Given the description of an element on the screen output the (x, y) to click on. 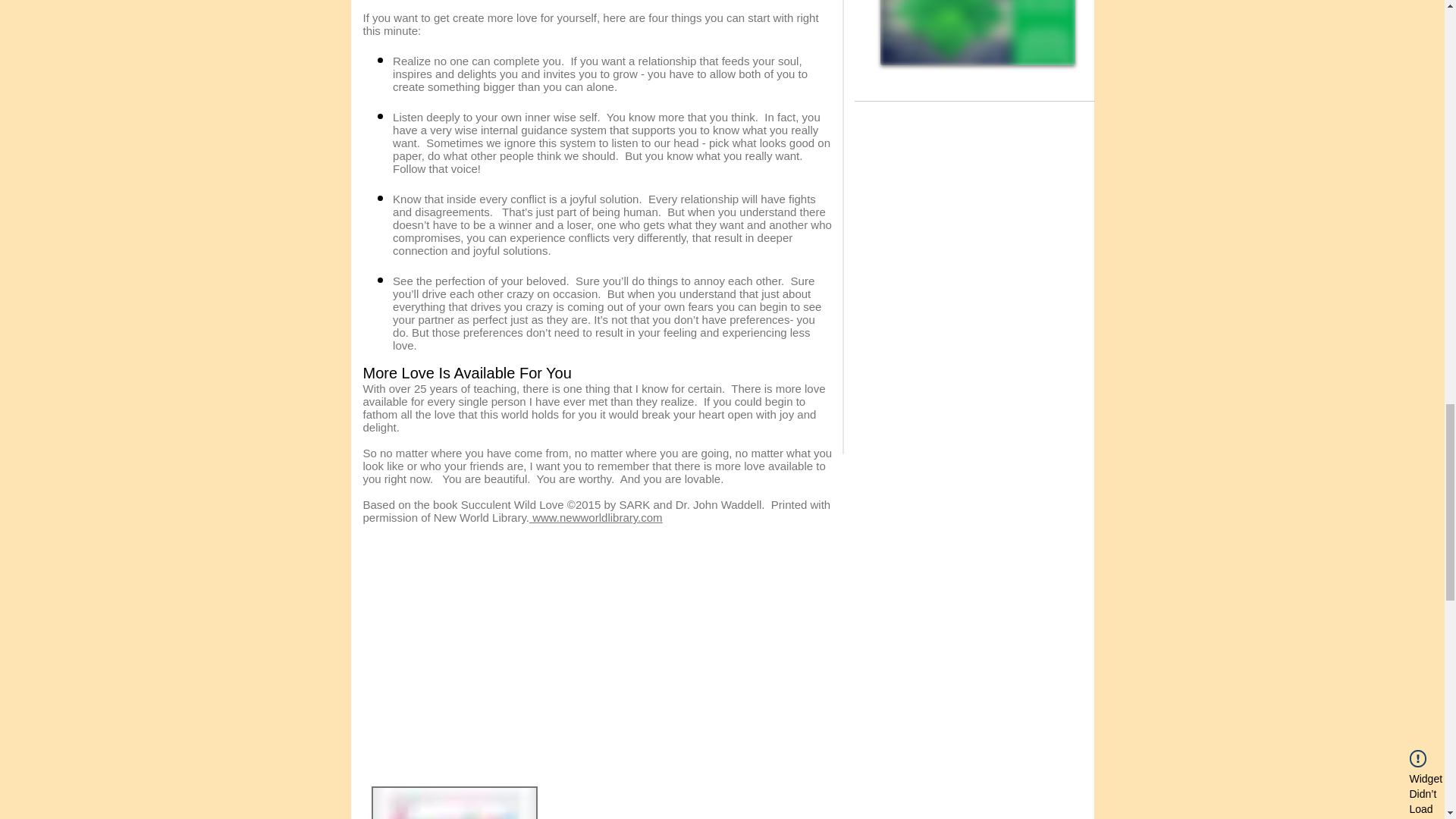
Screen Shot 2016-01-25 at 10.22.59 PM.png (976, 32)
www.newworldlibrary.com (595, 517)
